Given the description of an element on the screen output the (x, y) to click on. 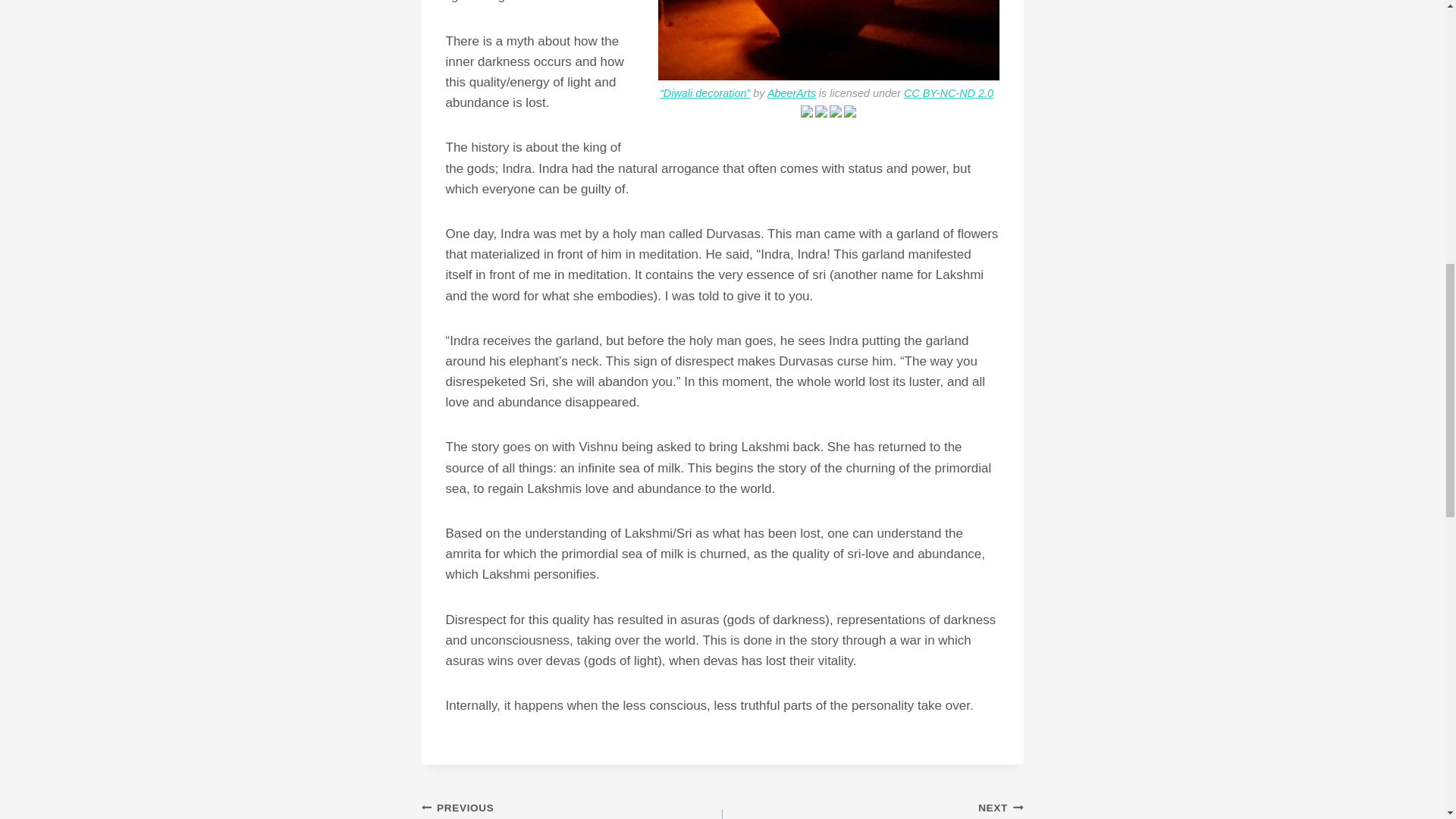
AbeerArts (791, 92)
CC BY-NC-ND 2.0 (948, 92)
